Given the description of an element on the screen output the (x, y) to click on. 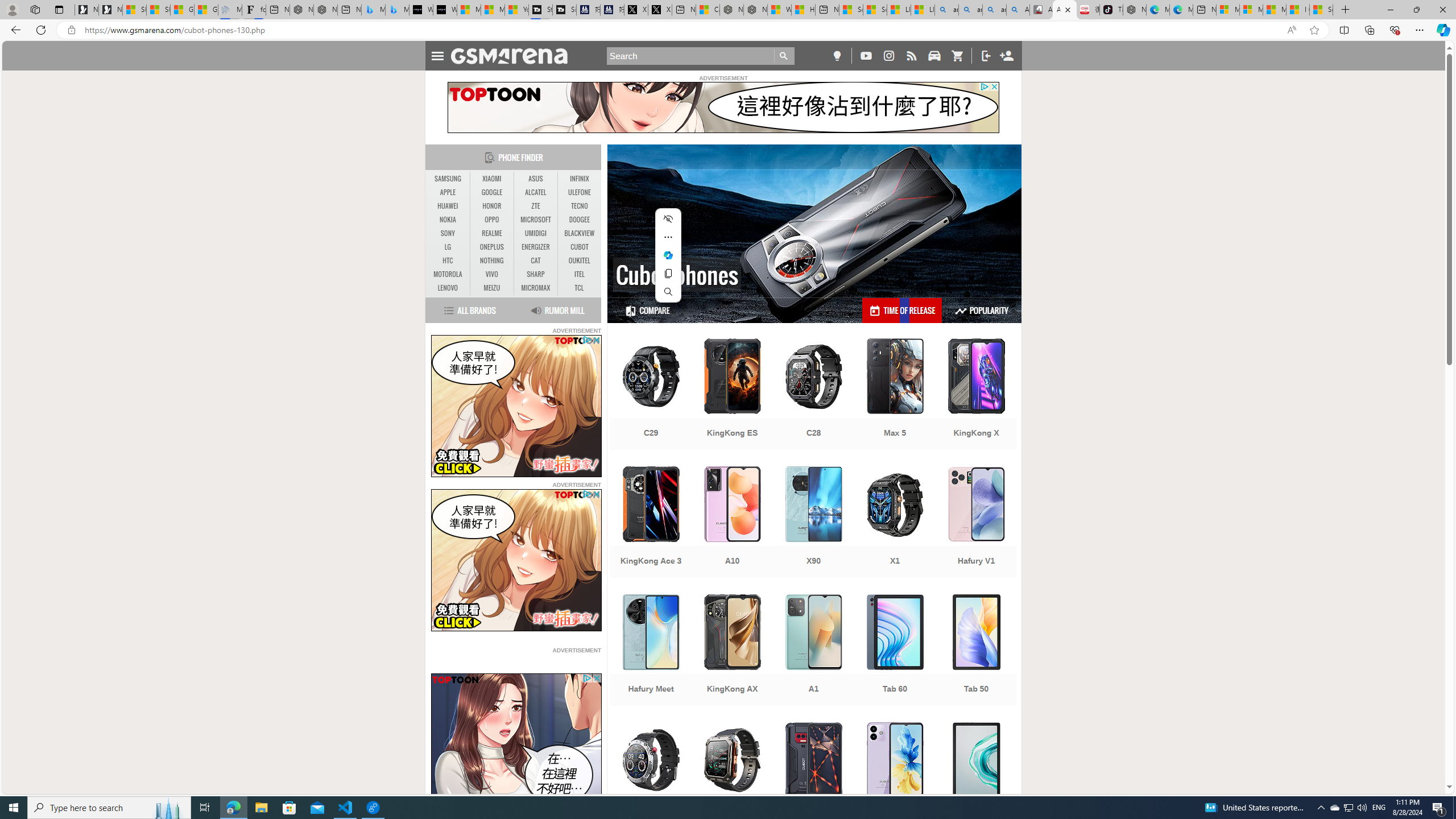
ULEFONE (579, 192)
MICROMAX (535, 287)
ITEL (579, 273)
GOOGLE (491, 192)
ONEPLUS (491, 246)
LENOVO (448, 287)
KingKong Ace 3 (650, 523)
KingKong ES (732, 395)
